Given the description of an element on the screen output the (x, y) to click on. 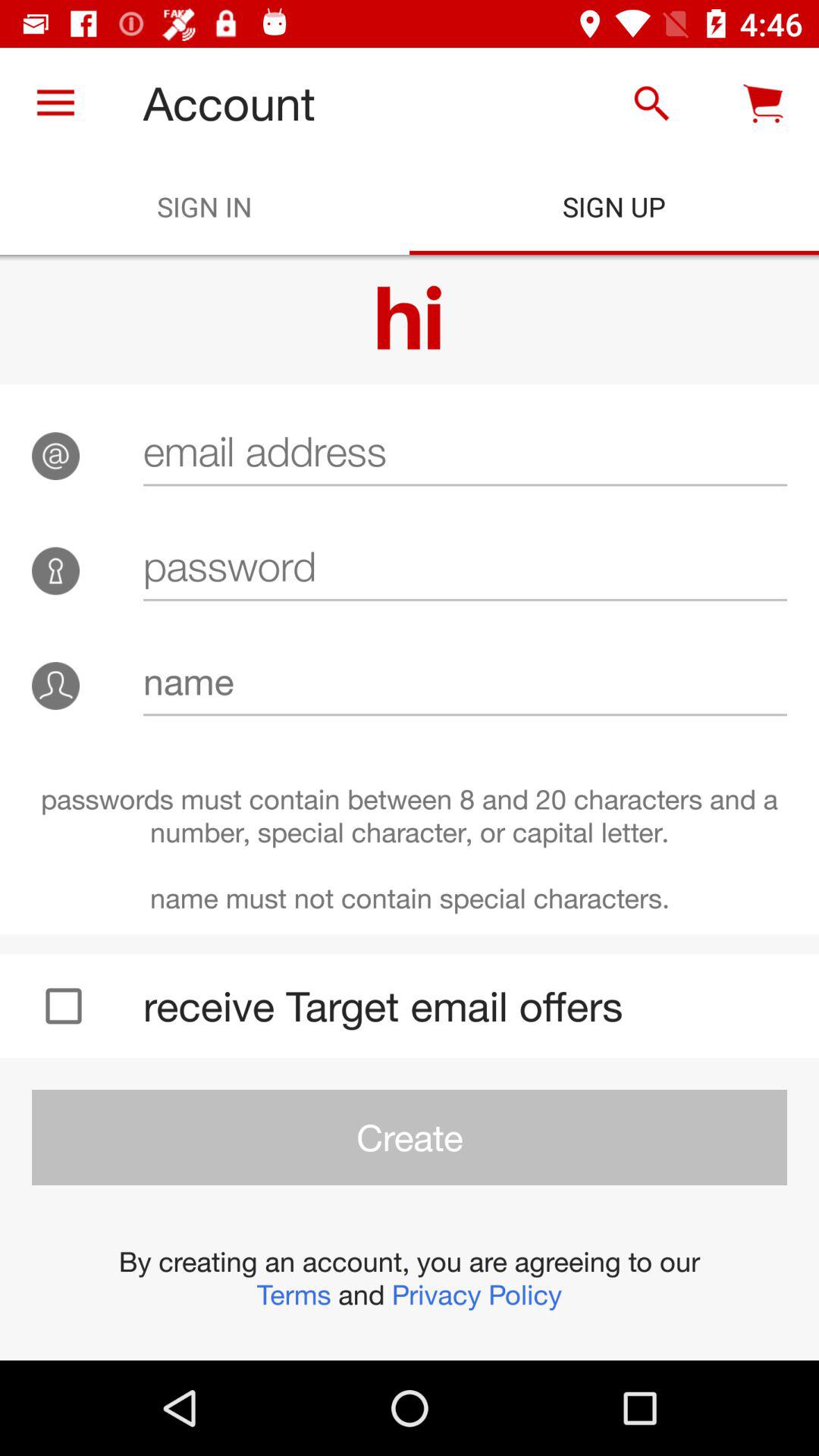
turn on icon above sign up item (651, 103)
